Given the description of an element on the screen output the (x, y) to click on. 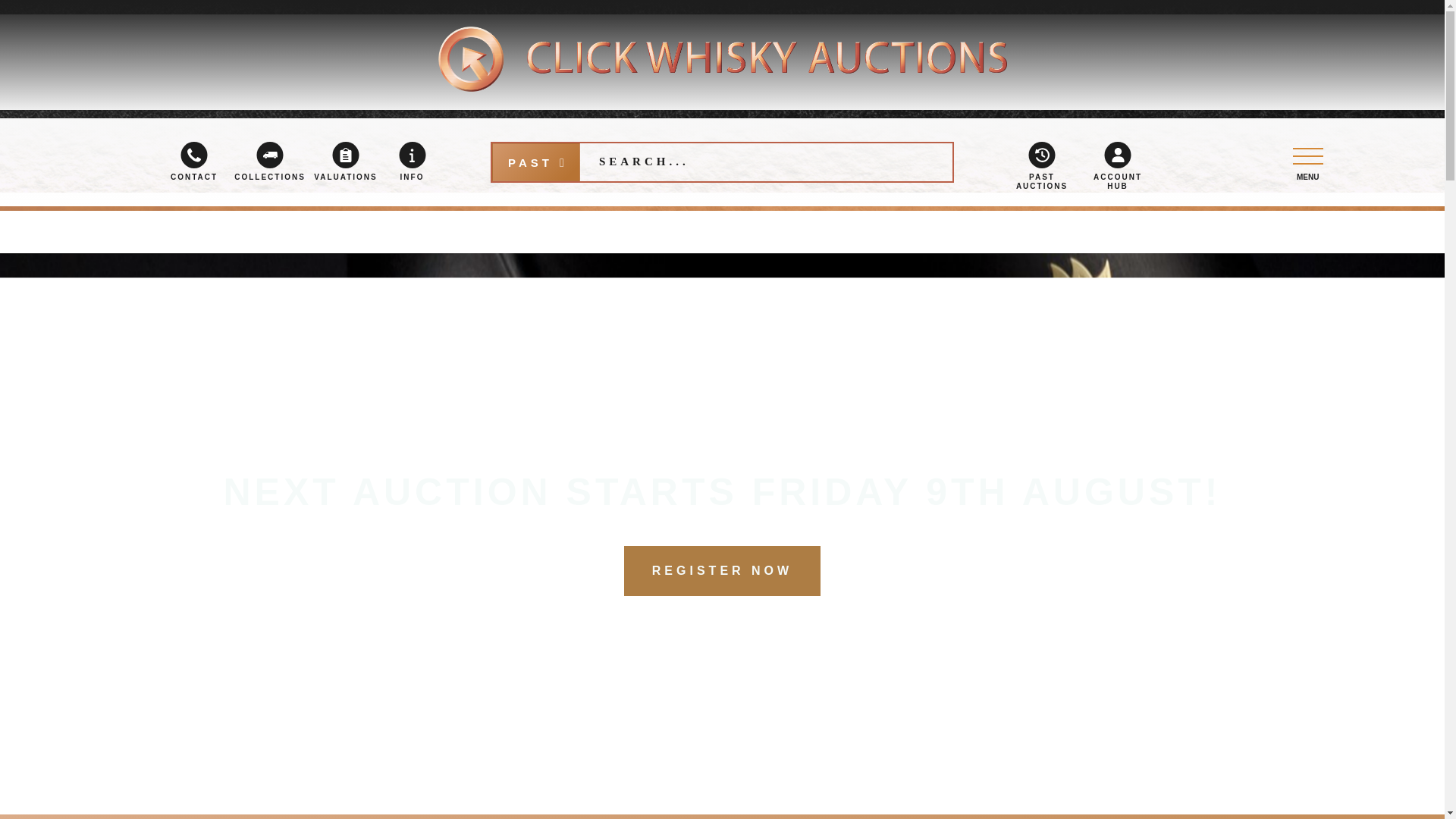
LOG IN (1027, 228)
REGISTER NOW (722, 571)
PAST (535, 161)
COLLECTIONS (269, 161)
PAST AUCTIONS (1041, 165)
CONTACT (193, 161)
ACCOUNT HUB (1117, 165)
VALUATIONS (345, 161)
